Given the description of an element on the screen output the (x, y) to click on. 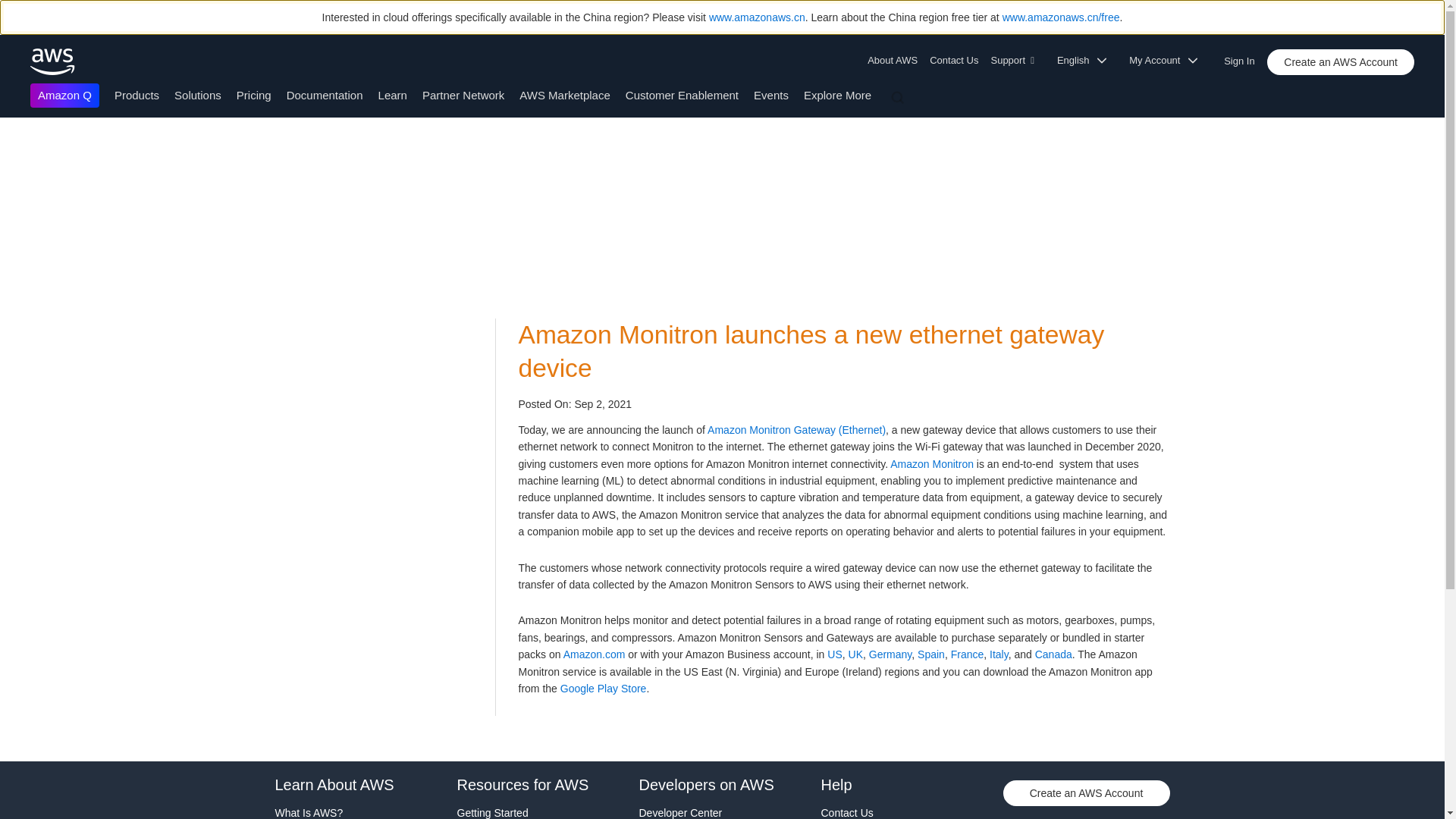
www.amazonaws.cn (757, 17)
Create an AWS Account (1339, 62)
Contact Us (953, 60)
Amazon Q (64, 95)
English   (1086, 60)
About AWS (895, 60)
Customer Enablement (682, 94)
My Account   (1168, 60)
Solutions (197, 94)
Explore More (836, 94)
Sign In (1243, 58)
Pricing (252, 94)
AWS Marketplace (564, 94)
Partner Network (462, 94)
Learn (392, 94)
